Given the description of an element on the screen output the (x, y) to click on. 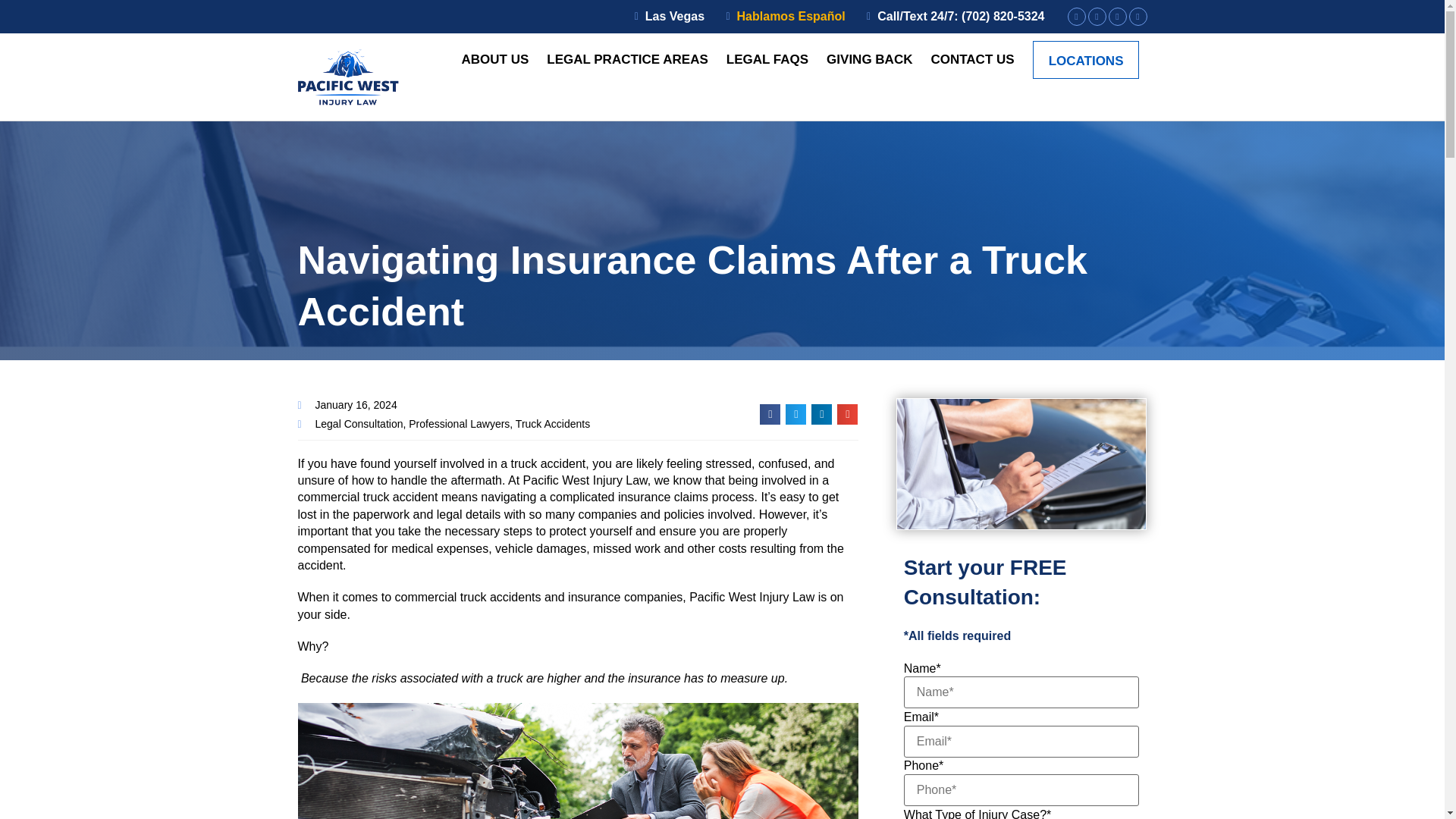
Las Vegas (664, 16)
ABOUT US (494, 59)
LEGAL PRACTICE AREAS (627, 59)
CONTACT US (971, 59)
GIVING BACK (869, 59)
LOCATIONS (1086, 59)
LEGAL FAQS (767, 59)
